Given the description of an element on the screen output the (x, y) to click on. 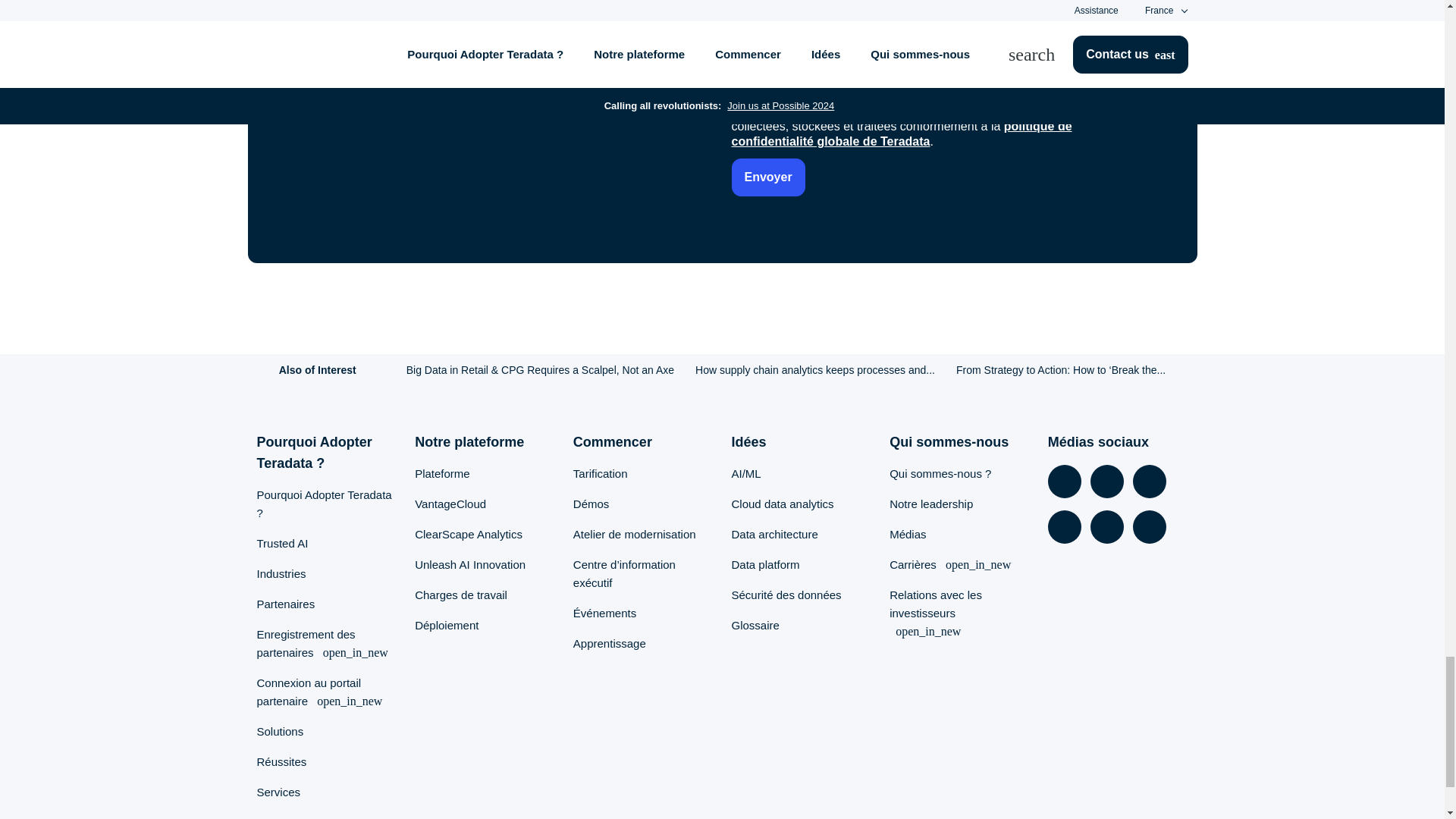
Envoyer (767, 177)
Pourquoi Adopter Teradata ? (323, 503)
Trusted AI (281, 543)
How supply chain analytics keeps processes and... (814, 369)
Industries (280, 573)
